Given the description of an element on the screen output the (x, y) to click on. 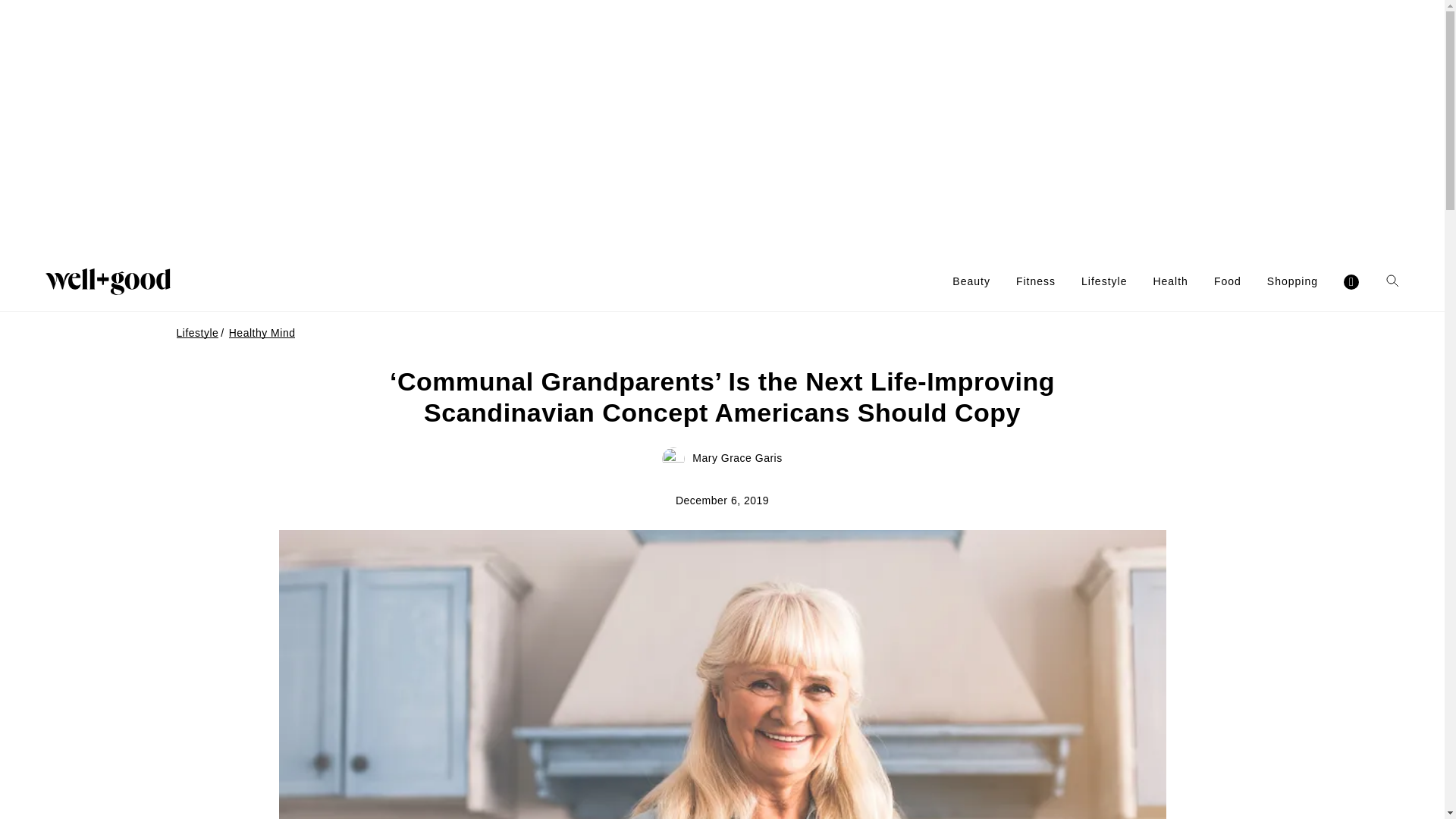
Beauty (971, 281)
Shopping (1291, 281)
Fitness (1035, 281)
Lifestyle (1103, 281)
Food (1227, 281)
Health (1170, 281)
